Given the description of an element on the screen output the (x, y) to click on. 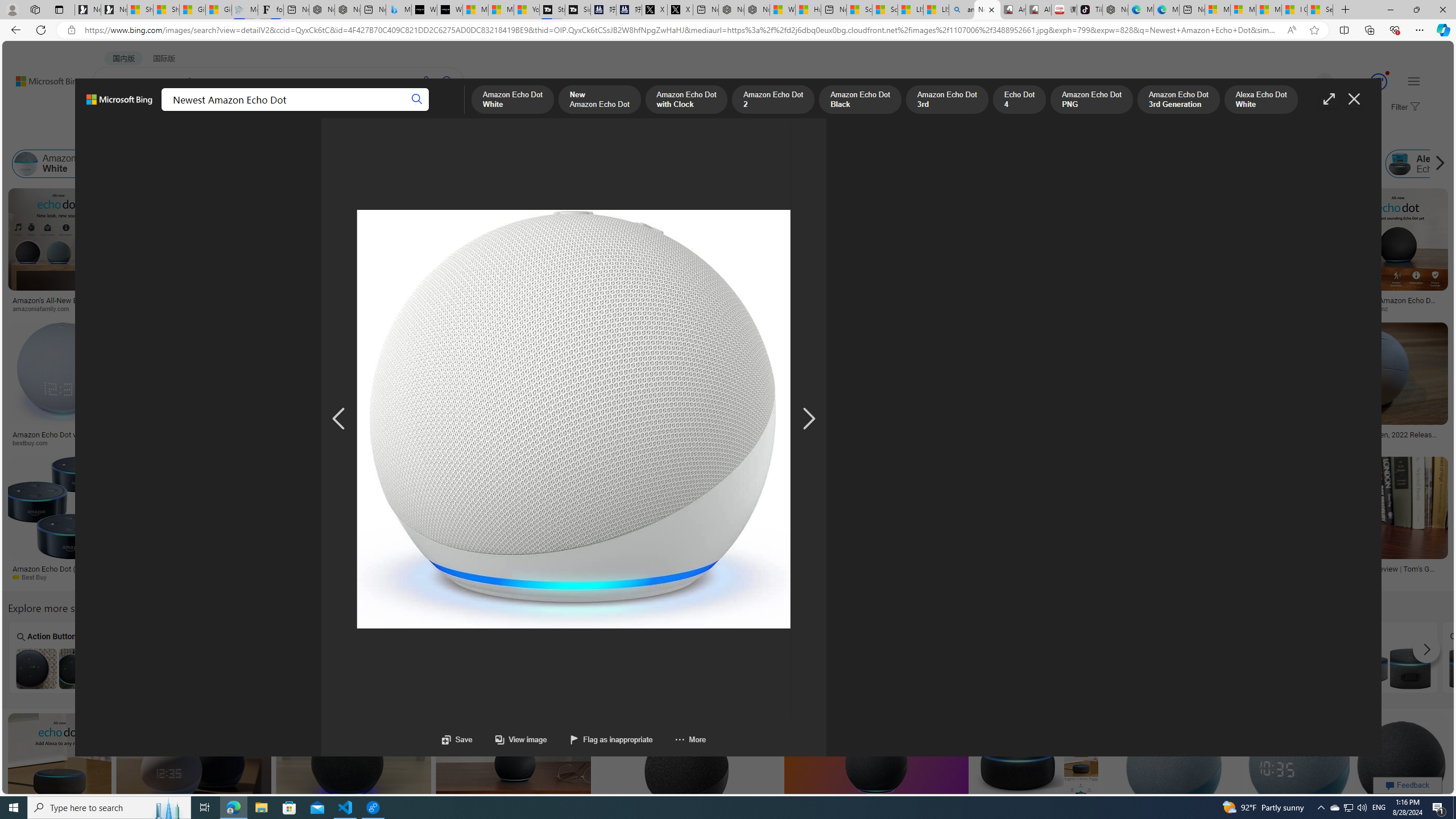
Amazon Echo Box (1184, 163)
People (295, 135)
Amazon Echo Dot (2019) | TechRadarTechRadarSave (688, 521)
Eugene (1307, 81)
Save (457, 739)
Color (173, 135)
Best Buy (55, 576)
Settings and quick links (1413, 80)
3rd Generation Speaker (671, 656)
